Given the description of an element on the screen output the (x, y) to click on. 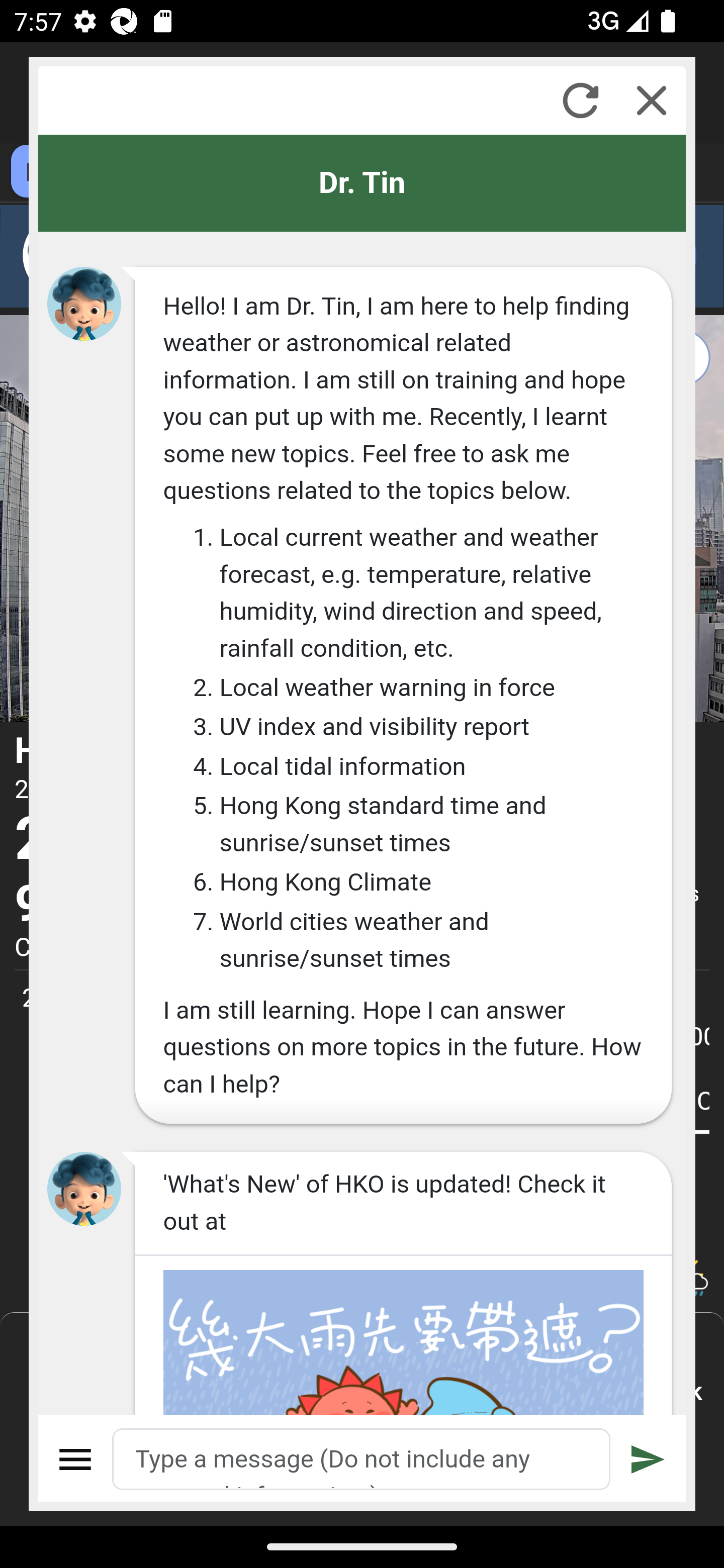
Refresh (580, 100)
Close (651, 100)
Menu (75, 1458)
Submit (648, 1458)
